Given the description of an element on the screen output the (x, y) to click on. 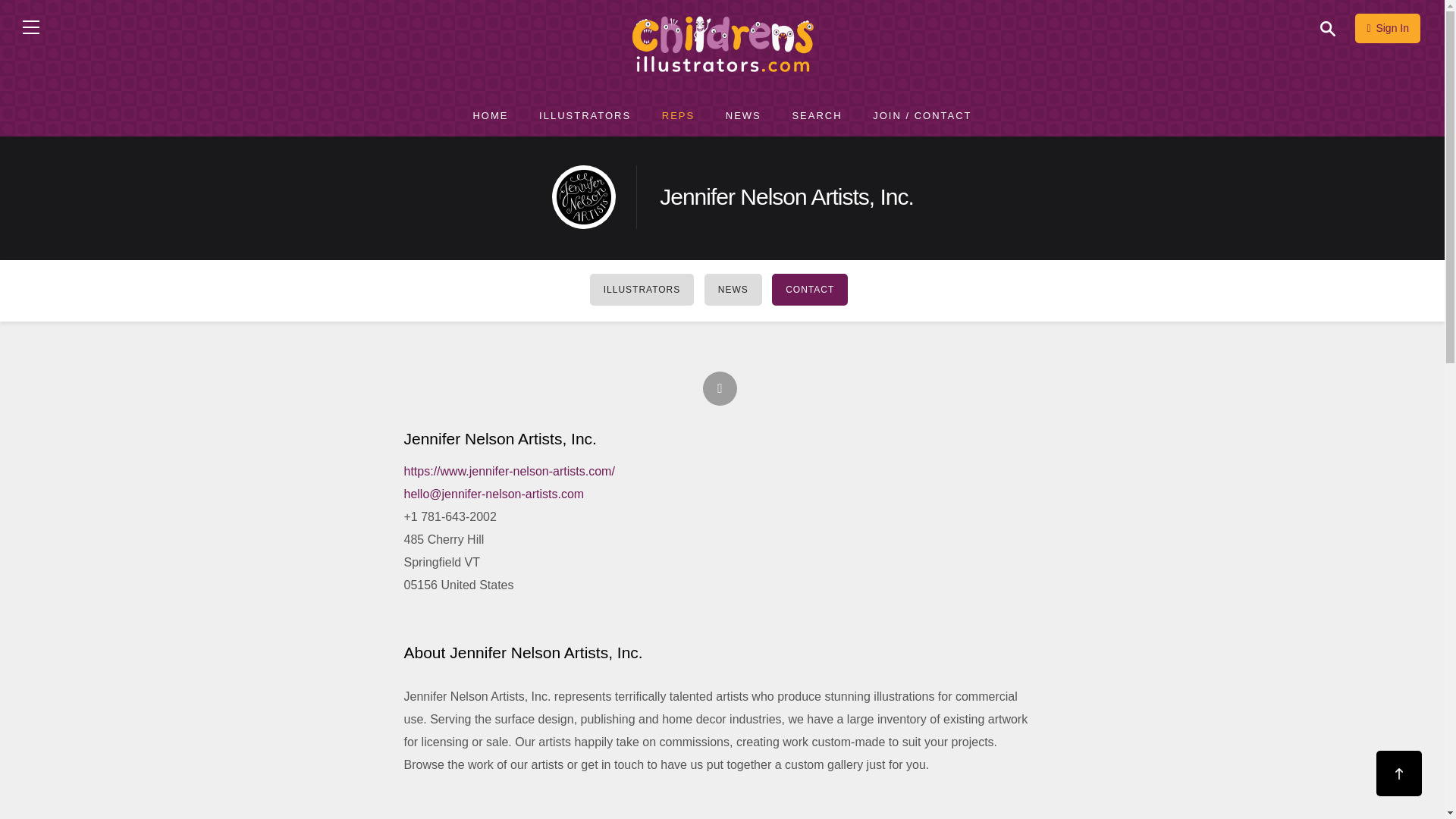
CONTACT (809, 289)
NEWS (743, 115)
ILLUSTRATORS (641, 289)
Sign In (1388, 28)
HOME (489, 115)
MENU (30, 27)
ILLUSTRATORS (584, 115)
Back to Top (1398, 773)
SEARCH (816, 115)
REPS (678, 115)
Search (1334, 34)
TOP (1398, 773)
Menu (30, 27)
Sign in (1388, 28)
NEWS (732, 289)
